Given the description of an element on the screen output the (x, y) to click on. 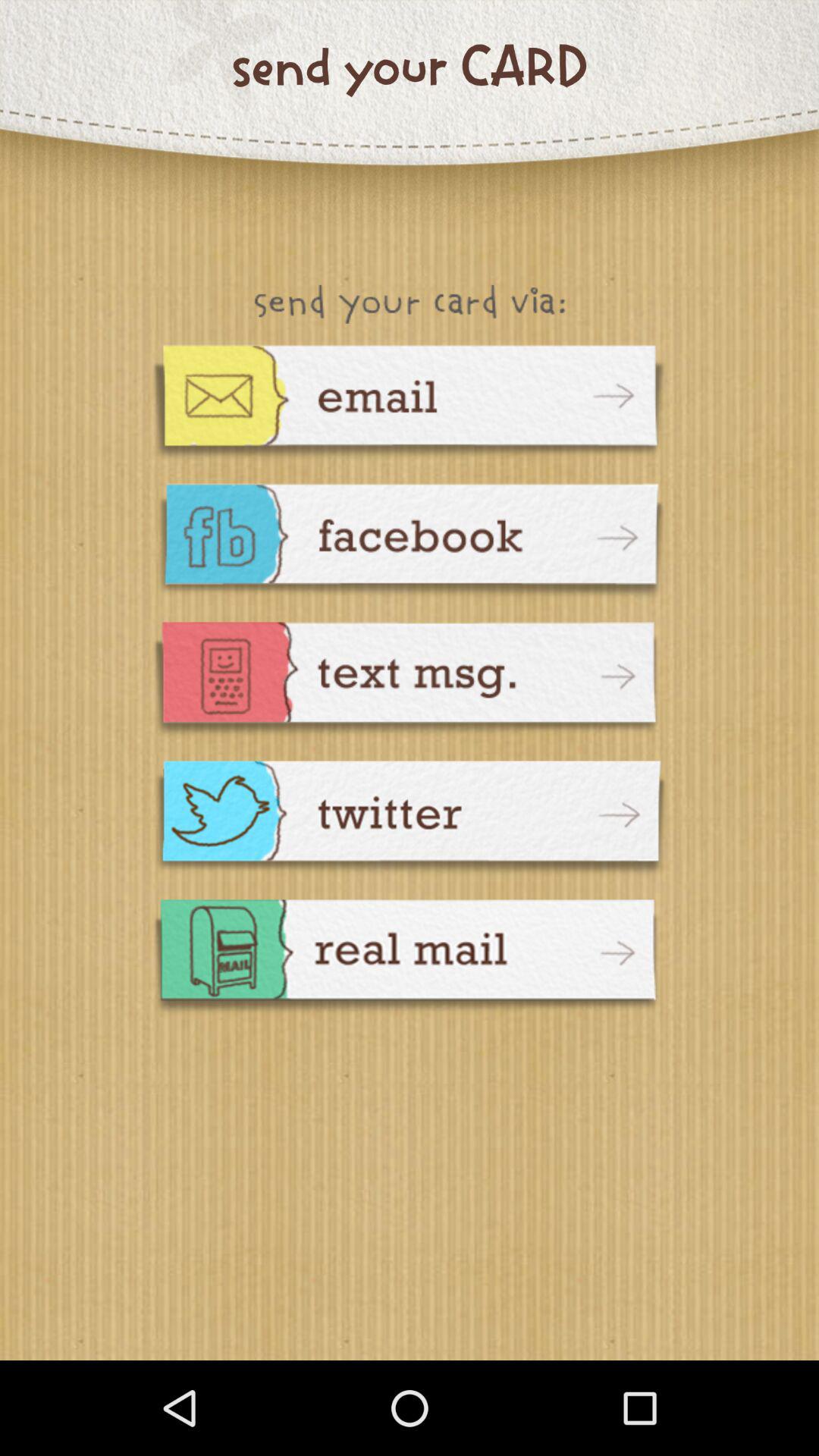
send through text message (409, 680)
